Given the description of an element on the screen output the (x, y) to click on. 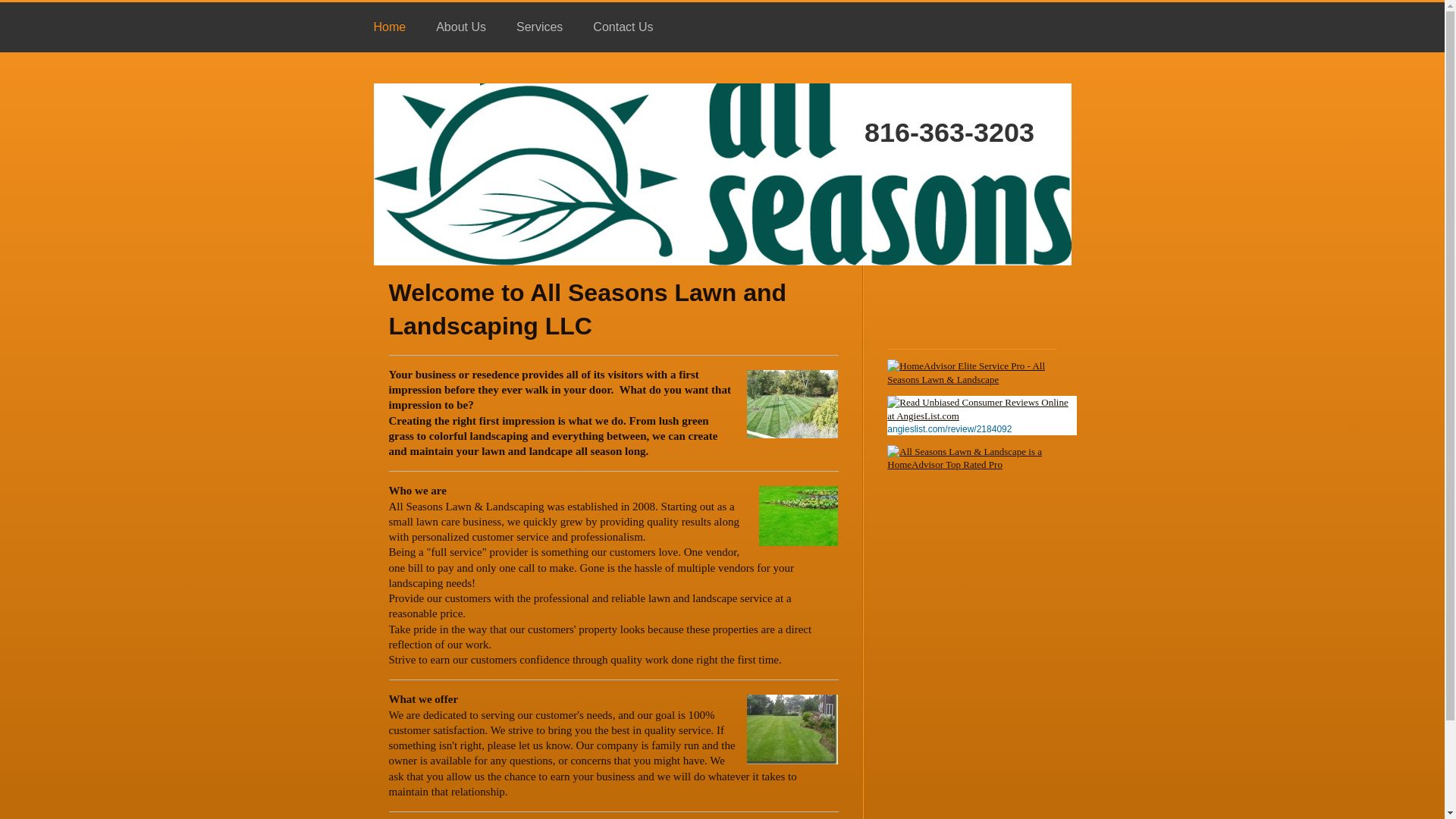
Contact Us (623, 27)
Home (389, 27)
Services (539, 27)
                                        816-363-3203 (804, 115)
About Us (460, 27)
